Given the description of an element on the screen output the (x, y) to click on. 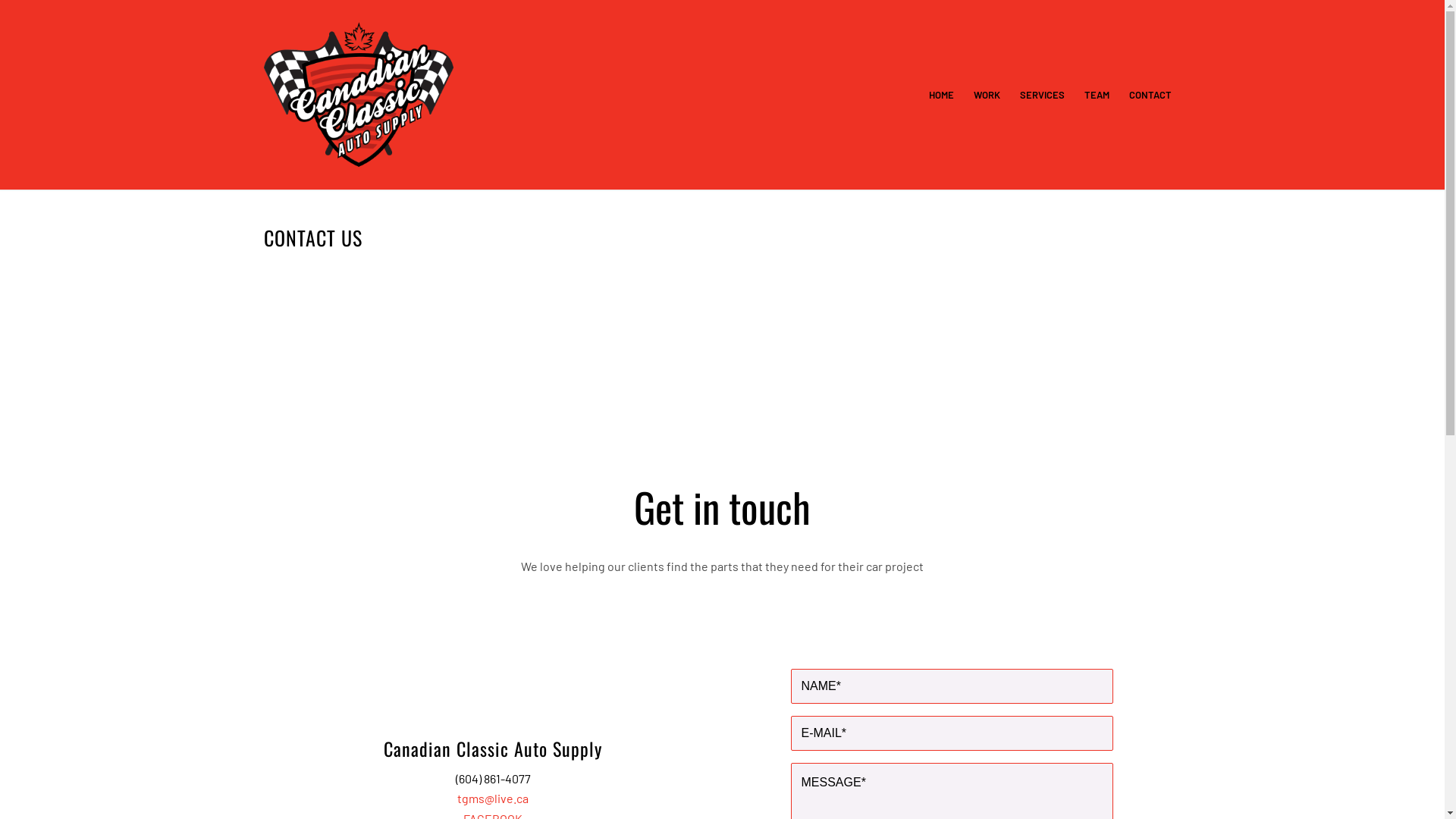
WORK Element type: text (986, 94)
SERVICES Element type: text (1042, 94)
CONTACT Element type: text (1150, 94)
tgms@live.ca Element type: text (492, 797)
HOME Element type: text (941, 94)
TEAM Element type: text (1095, 94)
